Given the description of an element on the screen output the (x, y) to click on. 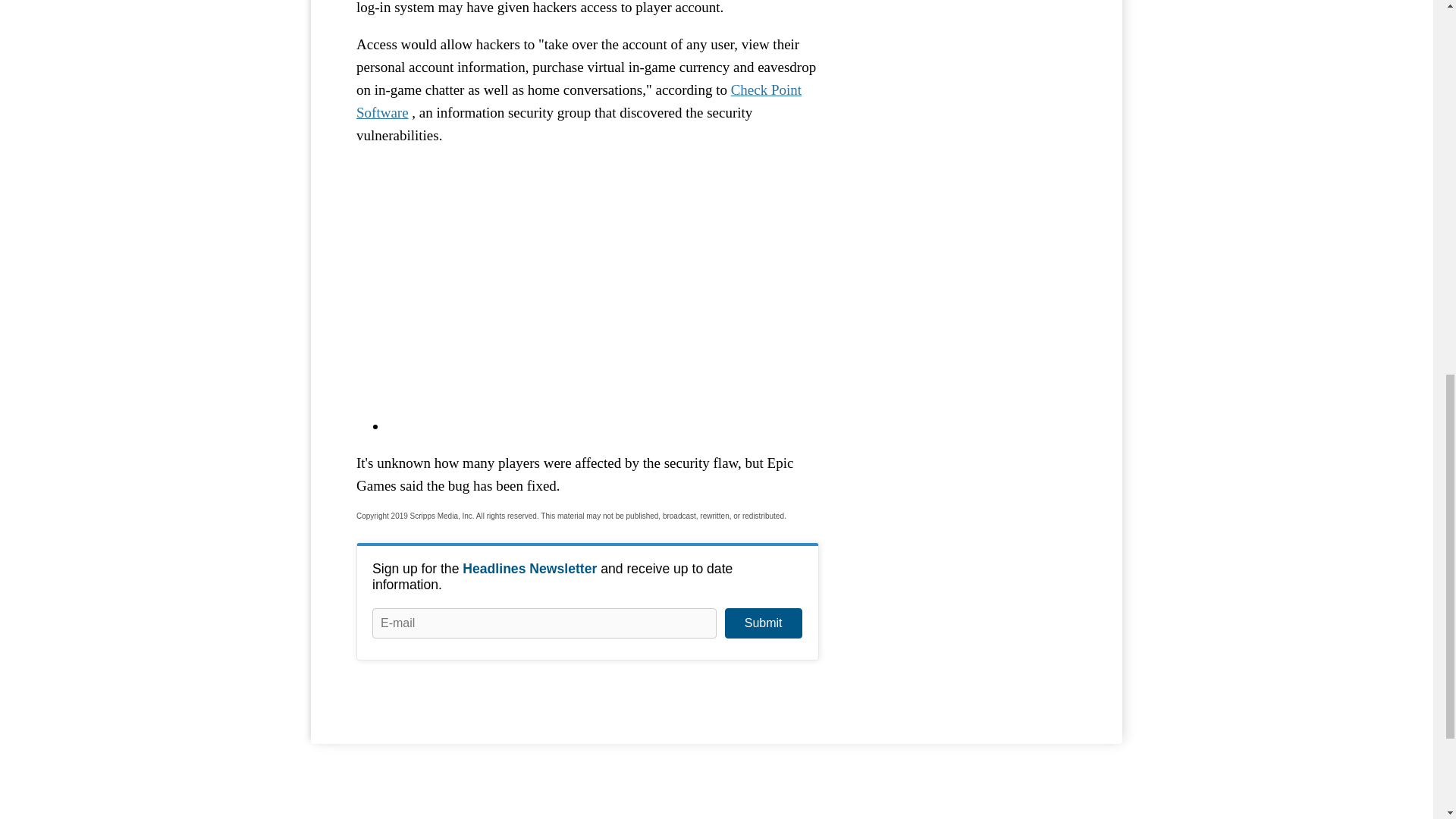
Submit (763, 623)
